Given the description of an element on the screen output the (x, y) to click on. 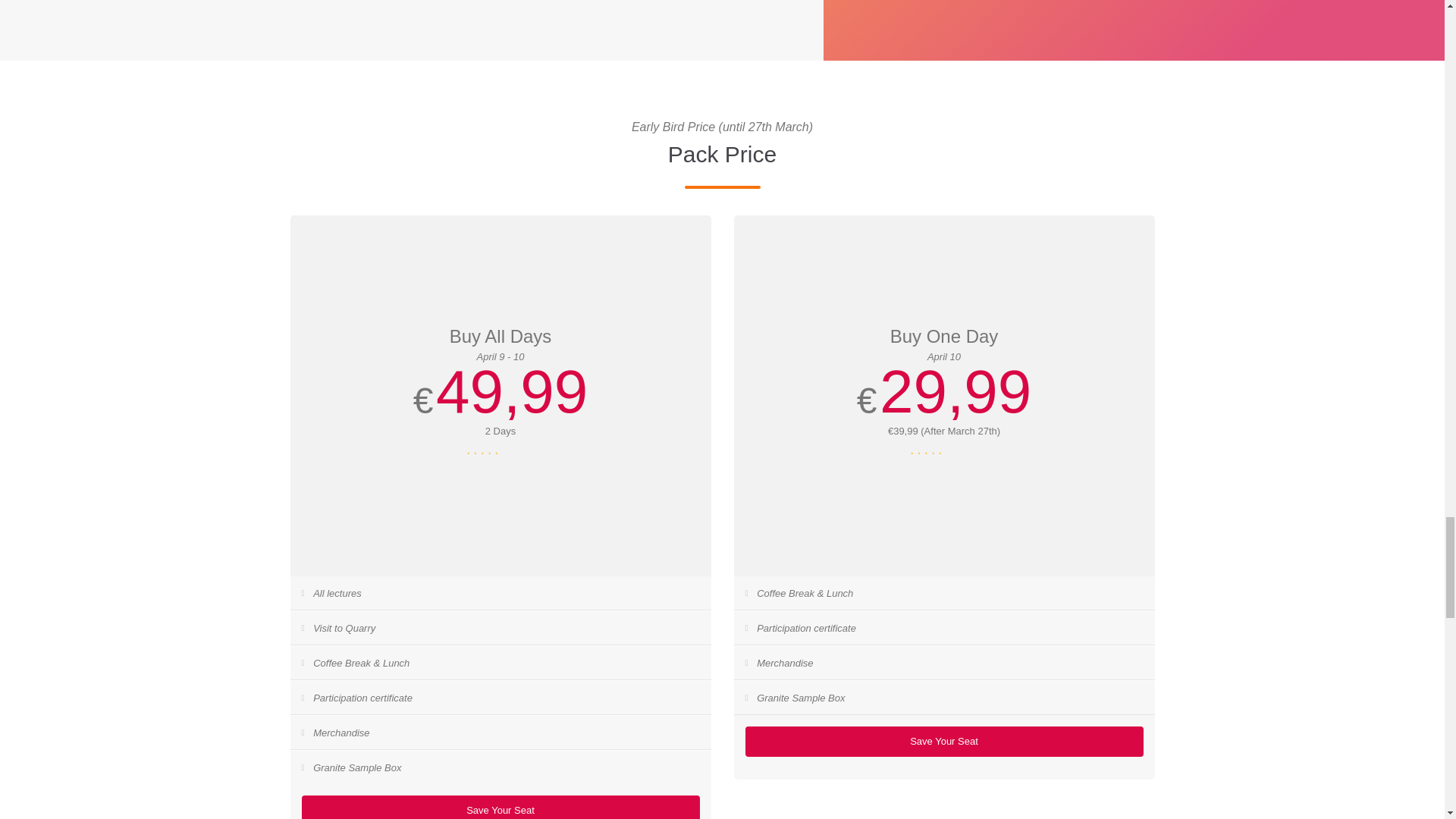
Save Your Seat (943, 741)
Save Your Seat (500, 807)
